Given the description of an element on the screen output the (x, y) to click on. 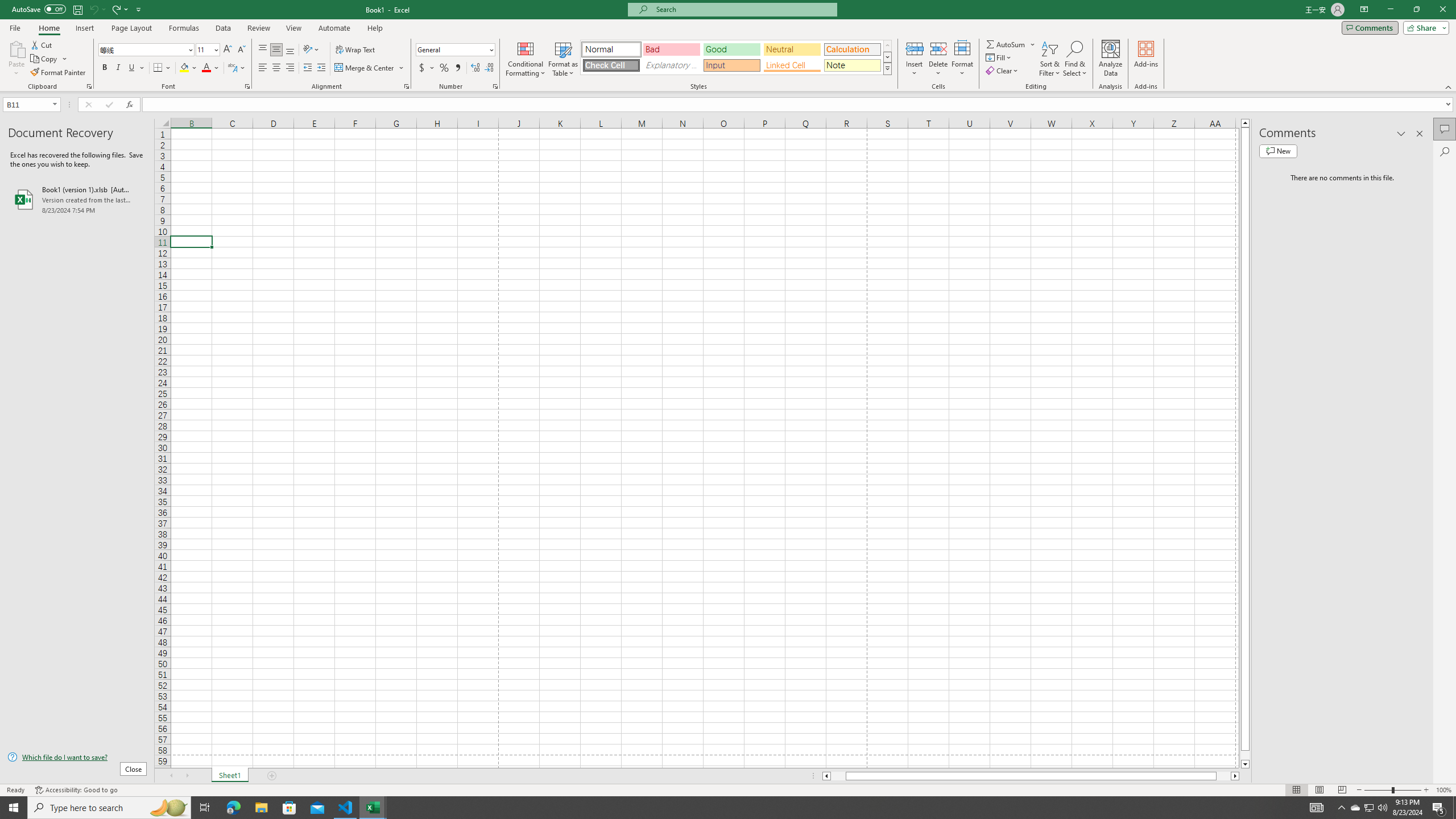
Format (962, 58)
Merge & Center (369, 67)
Close pane (1419, 133)
Borders (162, 67)
AutoSum (1011, 44)
Book1 (version 1).xlsb  [AutoRecovered] (77, 199)
Explanatory Text (671, 65)
